Given the description of an element on the screen output the (x, y) to click on. 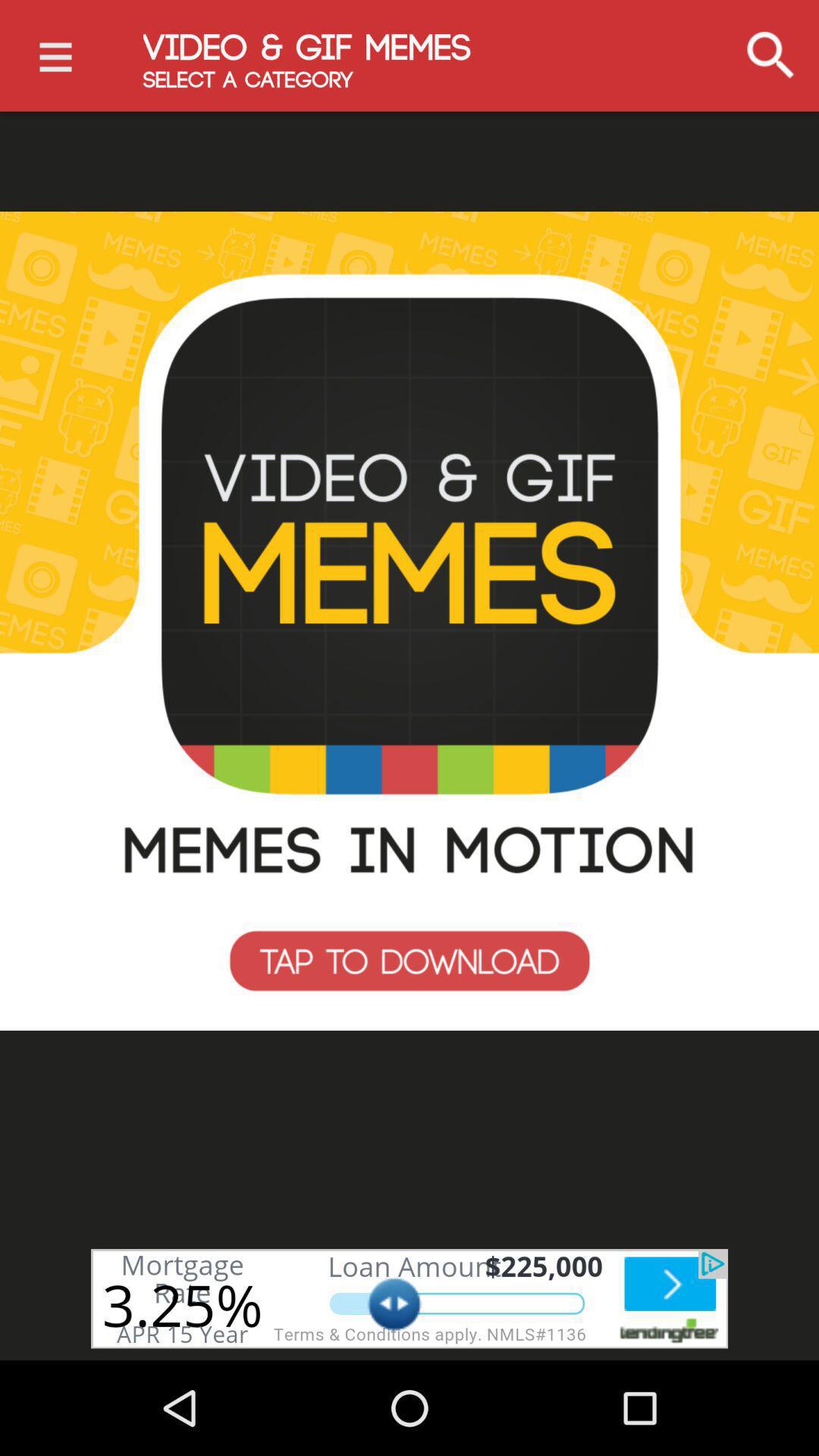
main content window (409, 620)
